Given the description of an element on the screen output the (x, y) to click on. 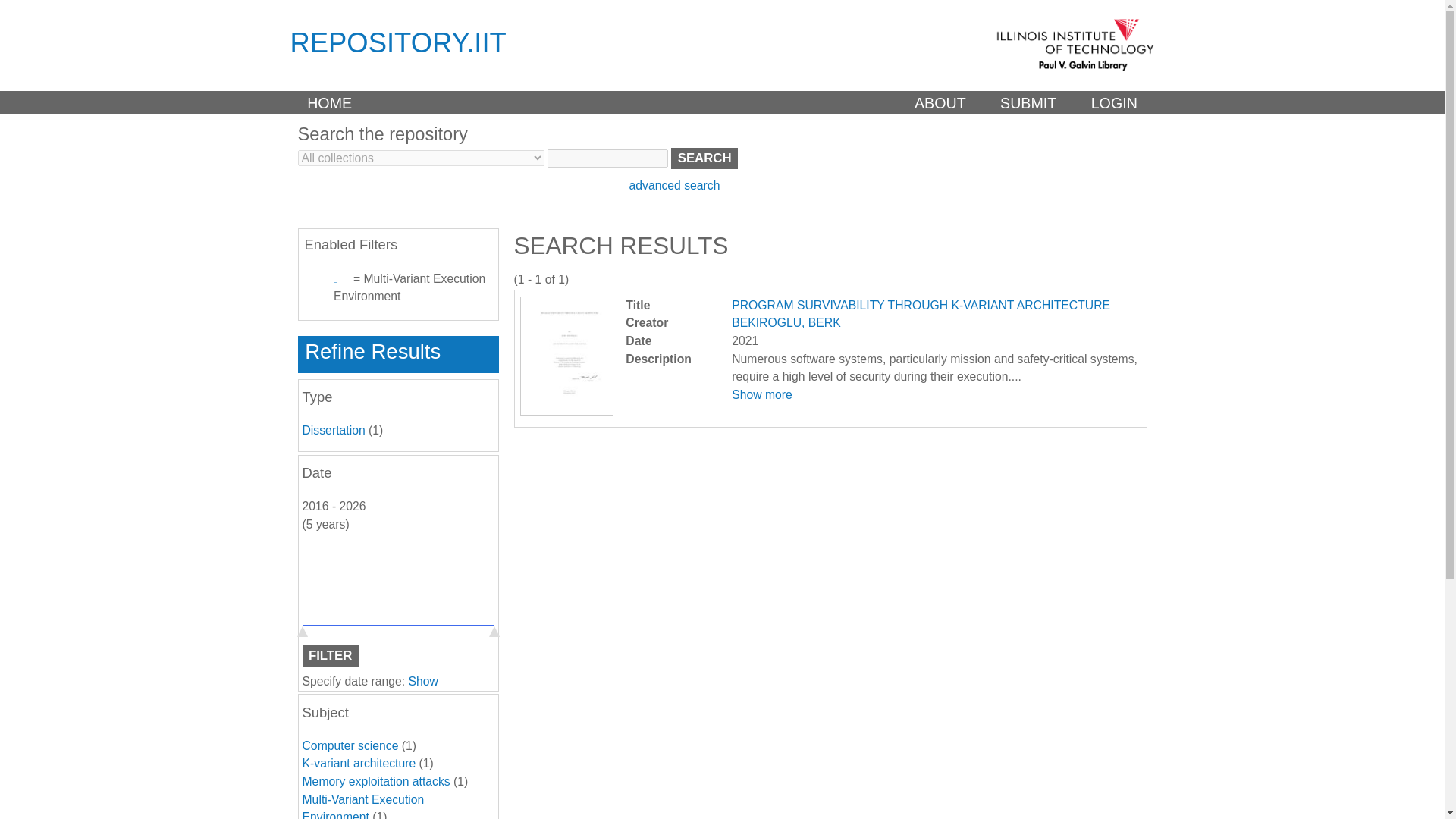
PROGRAM SURVIVABILITY THROUGH K-VARIANT ARCHITECTURE (565, 410)
REPOSITORY.IIT (397, 42)
BEKIROGLU, BERK (786, 322)
Filter (329, 655)
HOME (328, 101)
Dissertation (333, 430)
PROGRAM SURVIVABILITY THROUGH K-VARIANT ARCHITECTURE (920, 305)
Show more (762, 394)
Multi-Variant Execution Environment (362, 806)
